Given the description of an element on the screen output the (x, y) to click on. 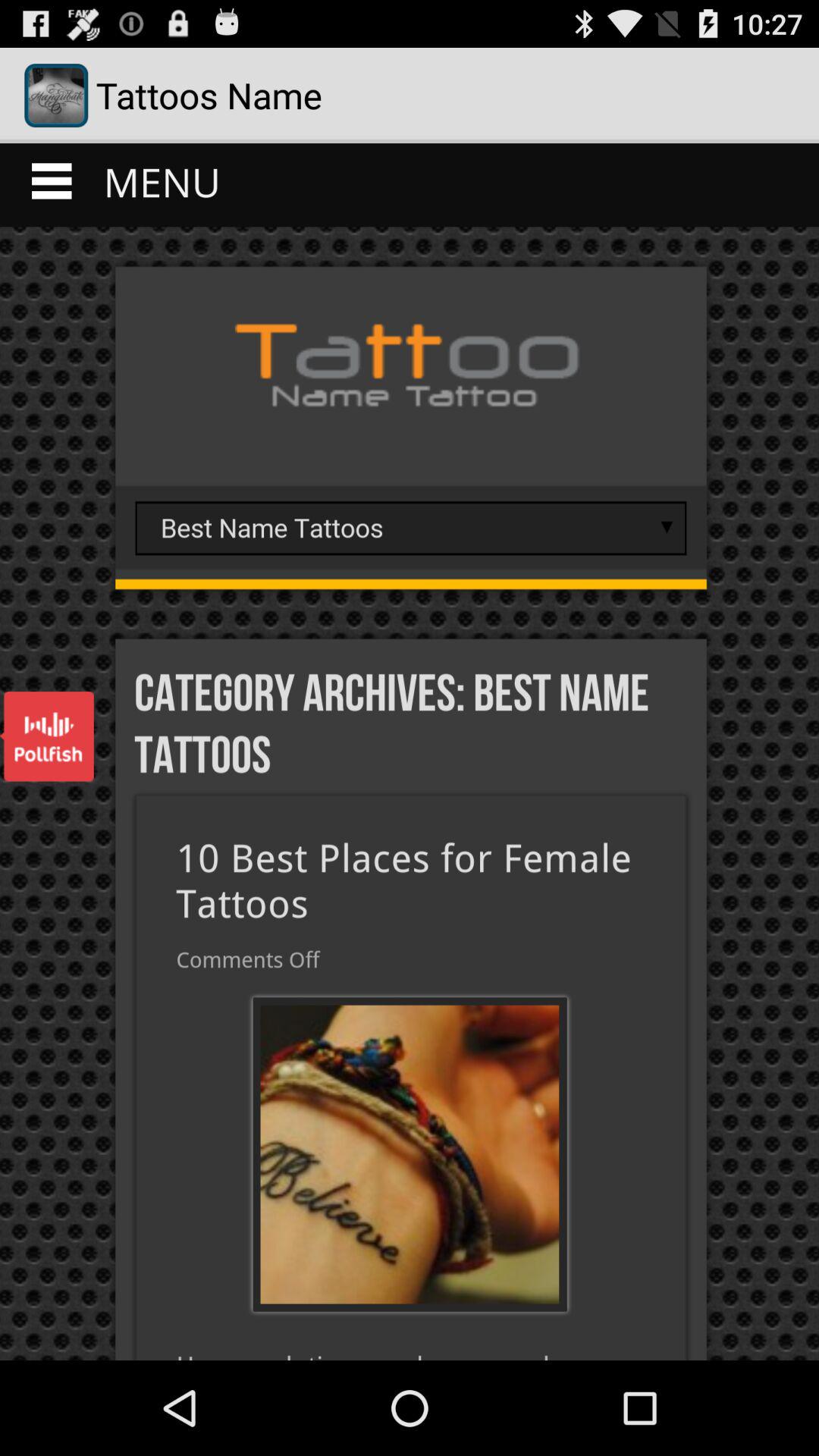
view pollfish (46, 736)
